Given the description of an element on the screen output the (x, y) to click on. 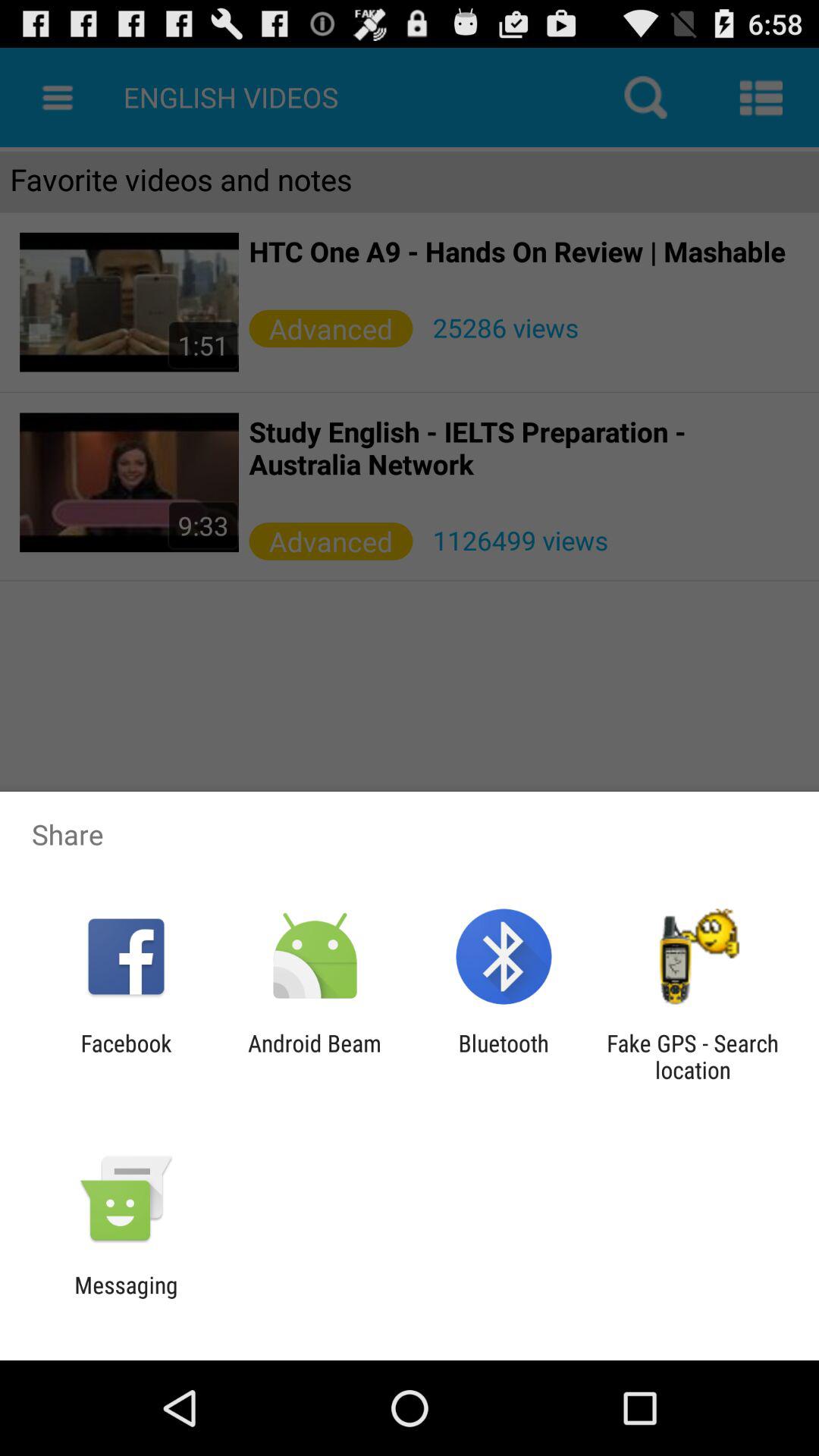
click the android beam (314, 1056)
